Given the description of an element on the screen output the (x, y) to click on. 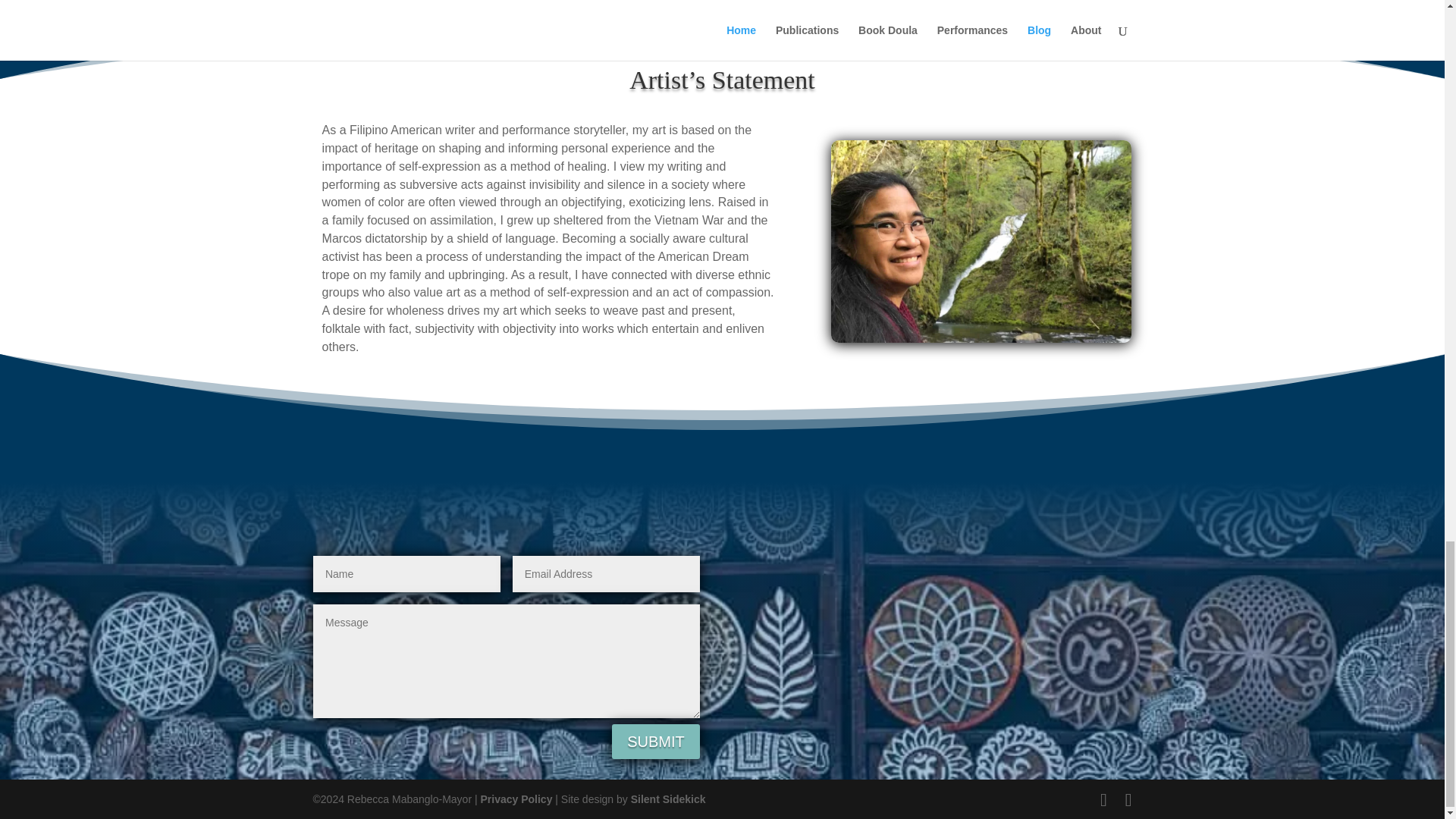
Privacy Policy (515, 799)
Silent Sidekick (666, 799)
SUBMIT (655, 741)
